Given the description of an element on the screen output the (x, y) to click on. 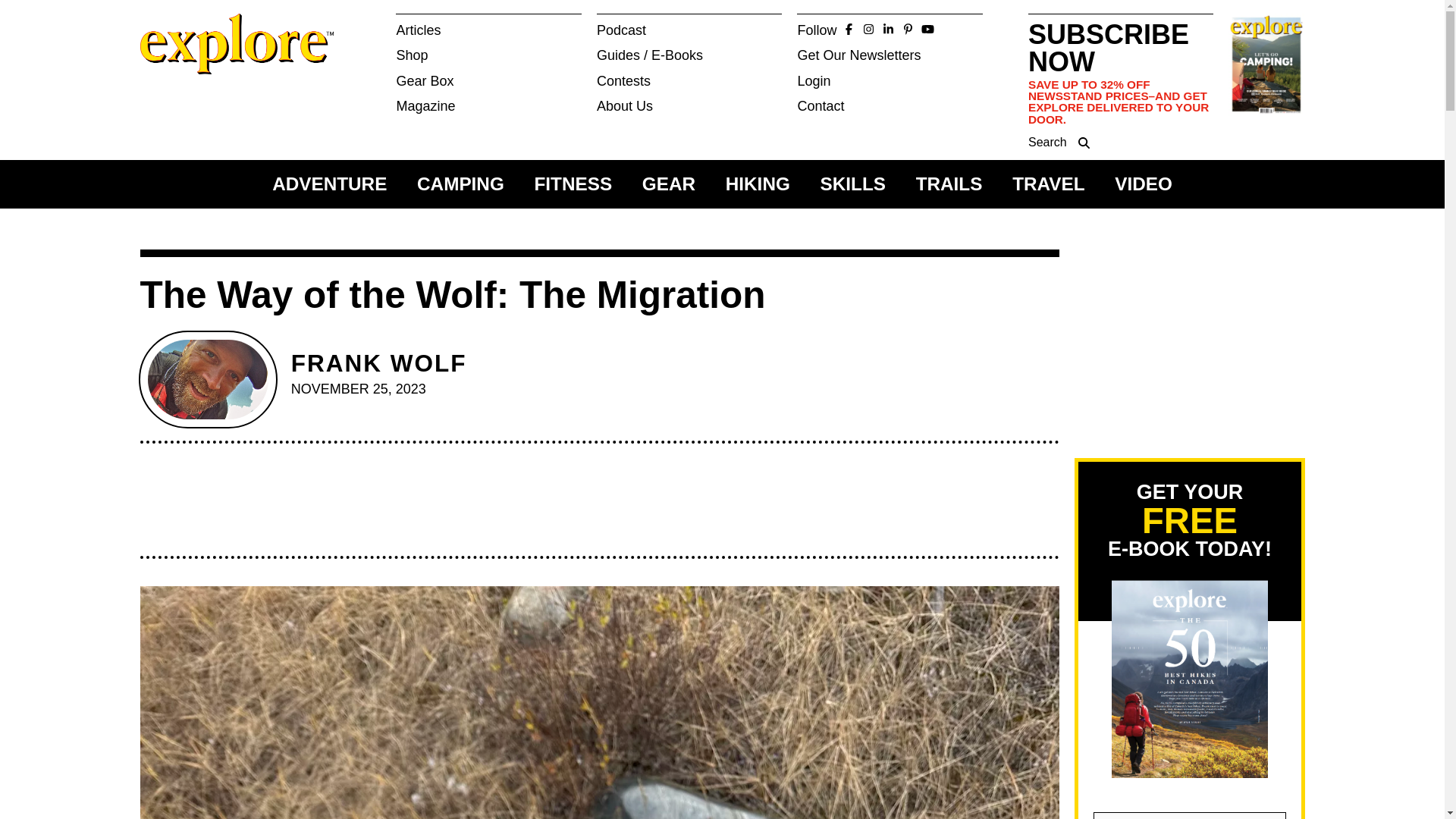
TRAILS (948, 184)
Explore Magazine (193, 89)
SKILLS (853, 184)
Explore Magazine (217, 66)
FITNESS (573, 184)
Gear Box (488, 81)
toggle menu (407, 24)
Next Story (712, 32)
About Us (689, 106)
HIKING (757, 184)
